Given the description of an element on the screen output the (x, y) to click on. 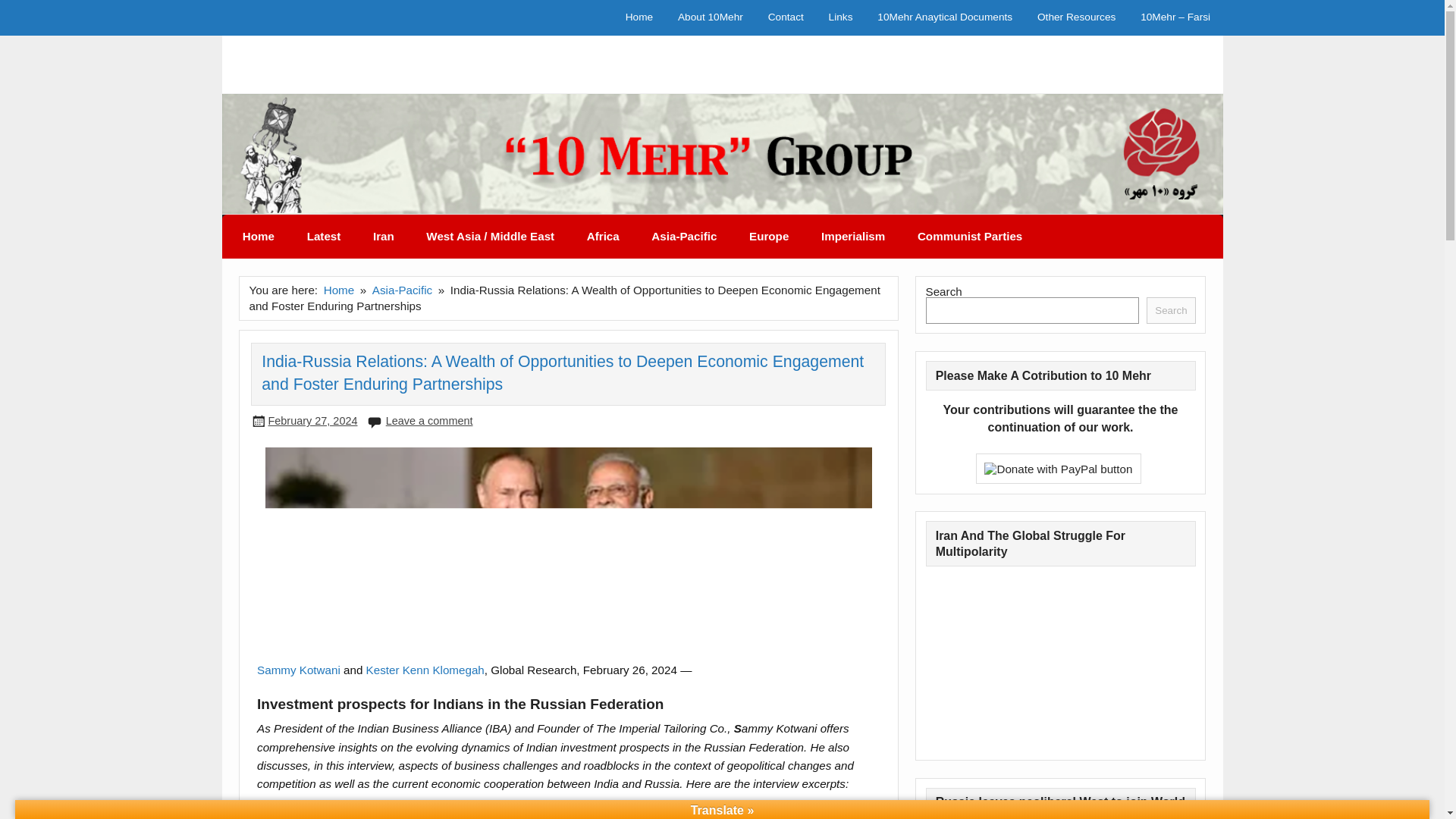
Links (839, 18)
Iran (383, 236)
Communist Parties (970, 236)
PayPal - The safer, easier way to pay online! (1058, 468)
Home (259, 236)
Home (339, 289)
Africa (602, 236)
Other Resources (1076, 18)
Sammy Kotwani (298, 669)
Home (638, 18)
